Given the description of an element on the screen output the (x, y) to click on. 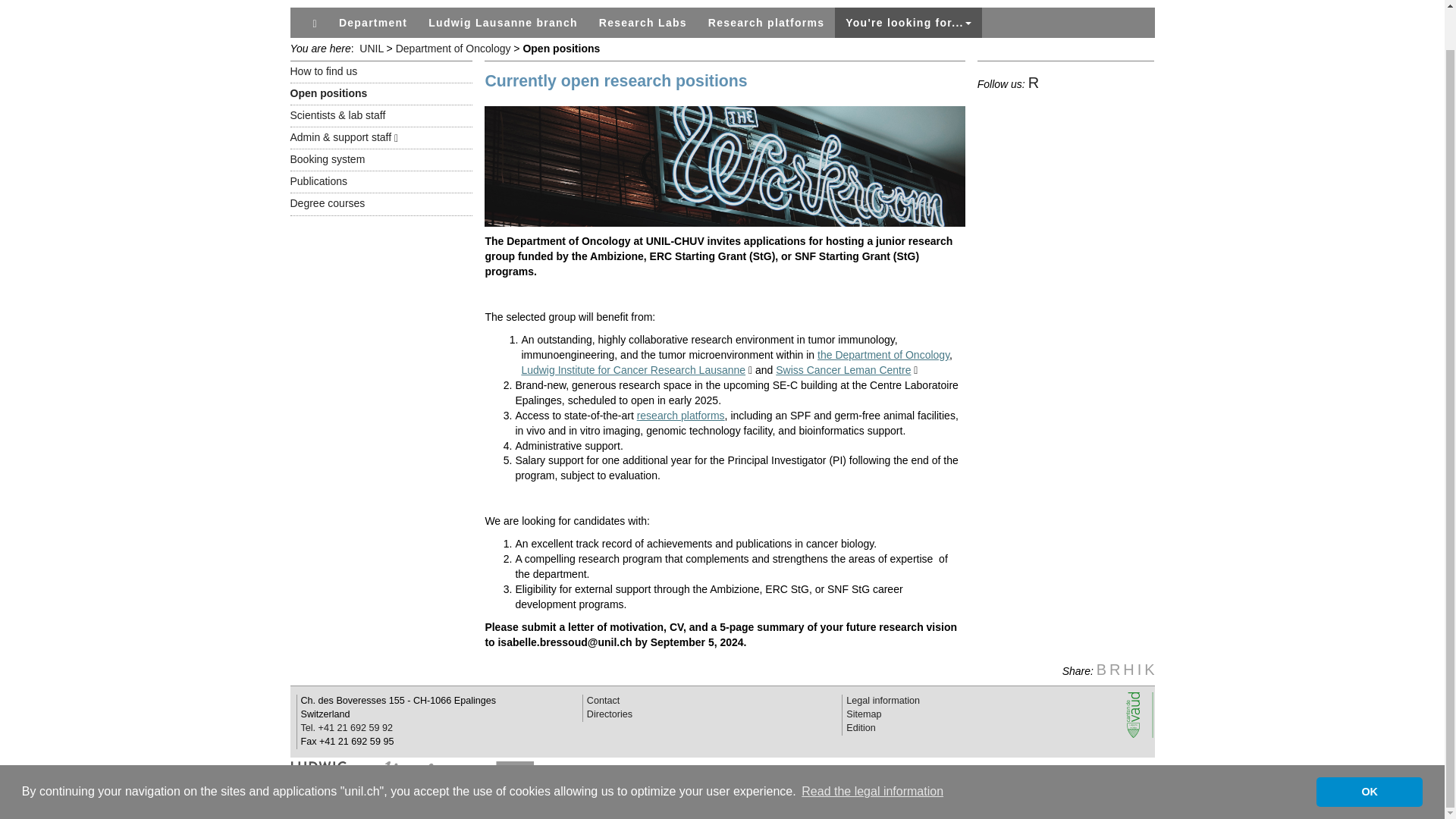
Department of Oncology (453, 48)
You're looking for... (907, 22)
OK (1369, 749)
Research platforms (765, 22)
UNIL (369, 48)
Read the legal information (871, 749)
Department (373, 22)
How to find us (322, 70)
Ludwig Lausanne branch (502, 22)
Research Labs (642, 22)
